Given the description of an element on the screen output the (x, y) to click on. 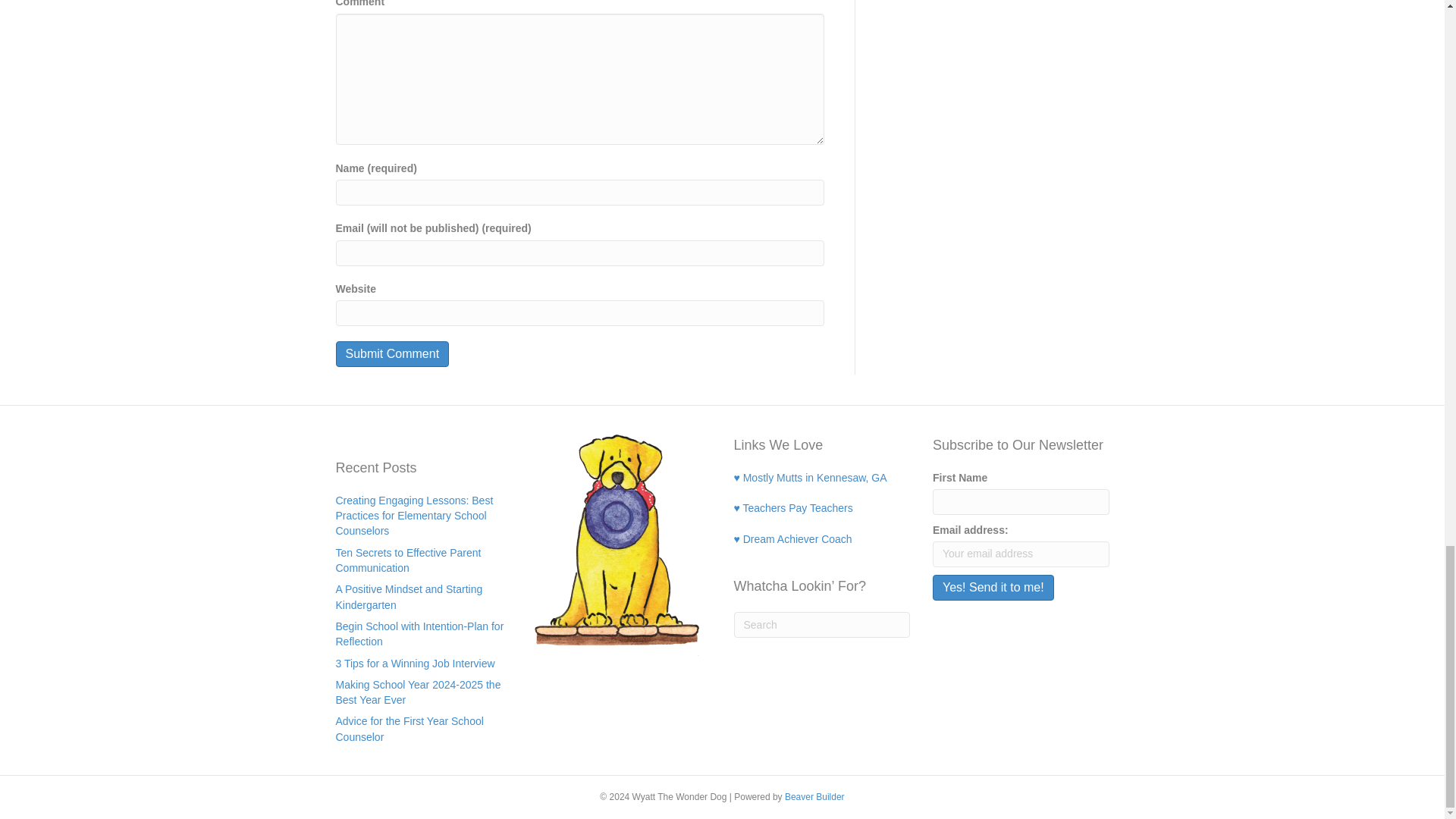
Submit Comment (391, 353)
Type and press Enter to search. (822, 624)
Ten Secrets to Effective Parent Communication (407, 560)
Yes! Send it to me! (993, 586)
A Positive Mindset and Starting Kindergarten (407, 596)
Submit Comment (391, 353)
3 Tips for a Winning Job Interview (414, 663)
WordPress Page Builder Plugin (814, 796)
Begin School with Intention-Plan for Reflection (418, 633)
